Given the description of an element on the screen output the (x, y) to click on. 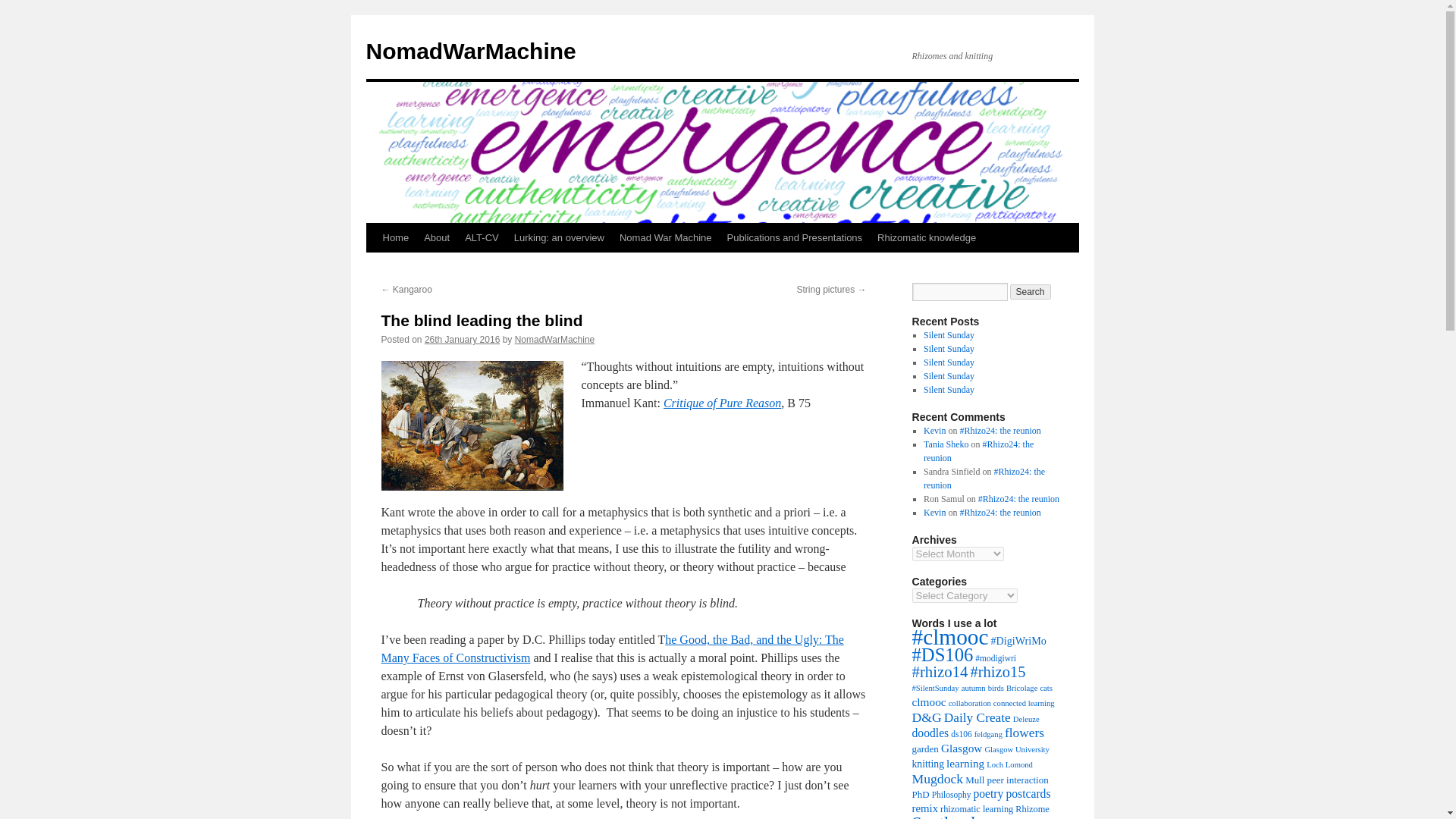
View all posts by NomadWarMachine (555, 339)
Home (395, 237)
About (436, 237)
NomadWarMachine (470, 50)
Critique of Pure Reason (721, 402)
7:40 pm (462, 339)
Lurking: an overview (558, 237)
Nomad War Machine (665, 237)
Rhizomatic knowledge (926, 237)
26th January 2016 (462, 339)
NomadWarMachine (555, 339)
Search (1030, 291)
Publications and Presentations (794, 237)
ALT-CV (481, 237)
